Given the description of an element on the screen output the (x, y) to click on. 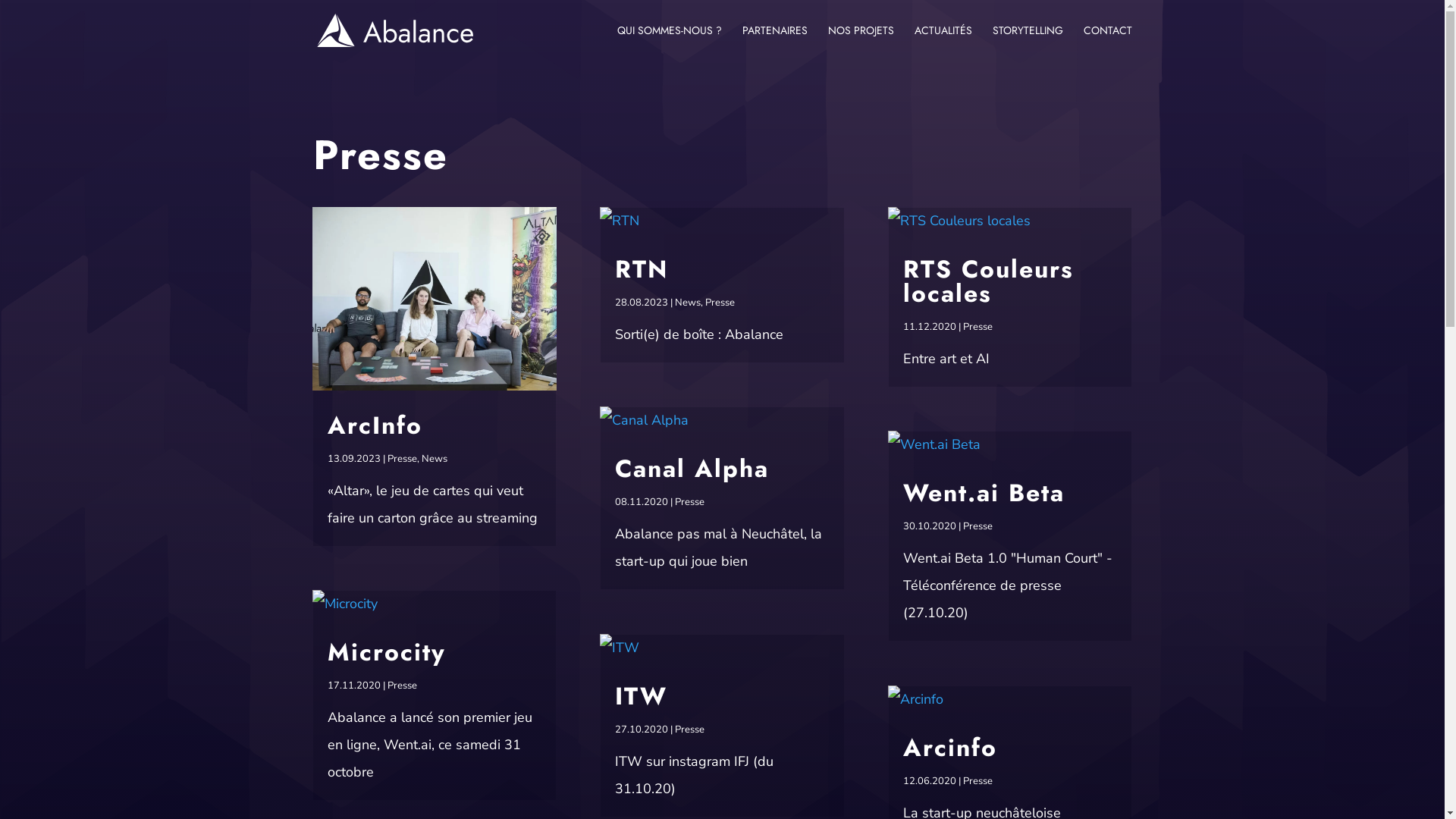
NOS PROJETS Element type: text (861, 42)
ArcInfo Element type: text (374, 424)
RTS Couleurs locales Element type: text (988, 280)
Presse Element type: text (689, 501)
PARTENAIRES Element type: text (773, 42)
Microcity Element type: text (386, 651)
Presse Element type: text (977, 780)
ITW Element type: text (641, 695)
Presse Element type: text (977, 326)
Presse Element type: text (401, 685)
Presse Element type: text (401, 458)
CONTACT Element type: text (1106, 42)
Canal Alpha Element type: text (691, 468)
News Element type: text (434, 458)
Presse Element type: text (719, 302)
QUI SOMMES-NOUS ? Element type: text (669, 42)
Went.ai Beta Element type: text (983, 492)
Presse Element type: text (977, 526)
Arcinfo Element type: text (950, 747)
News Element type: text (687, 302)
STORYTELLING Element type: text (1026, 42)
RTN Element type: text (641, 268)
Presse Element type: text (689, 729)
